Given the description of an element on the screen output the (x, y) to click on. 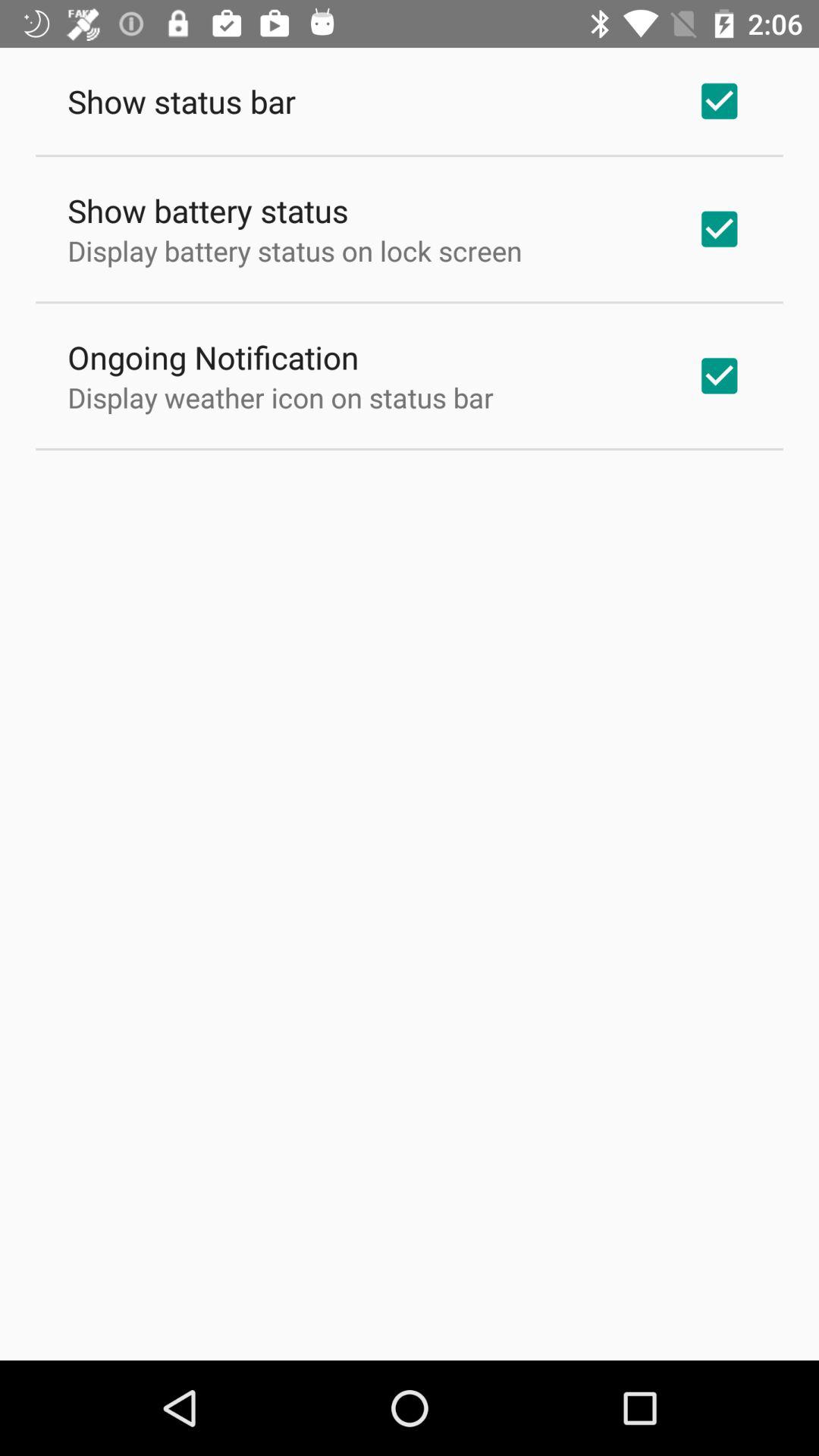
turn off ongoing notification (212, 356)
